Given the description of an element on the screen output the (x, y) to click on. 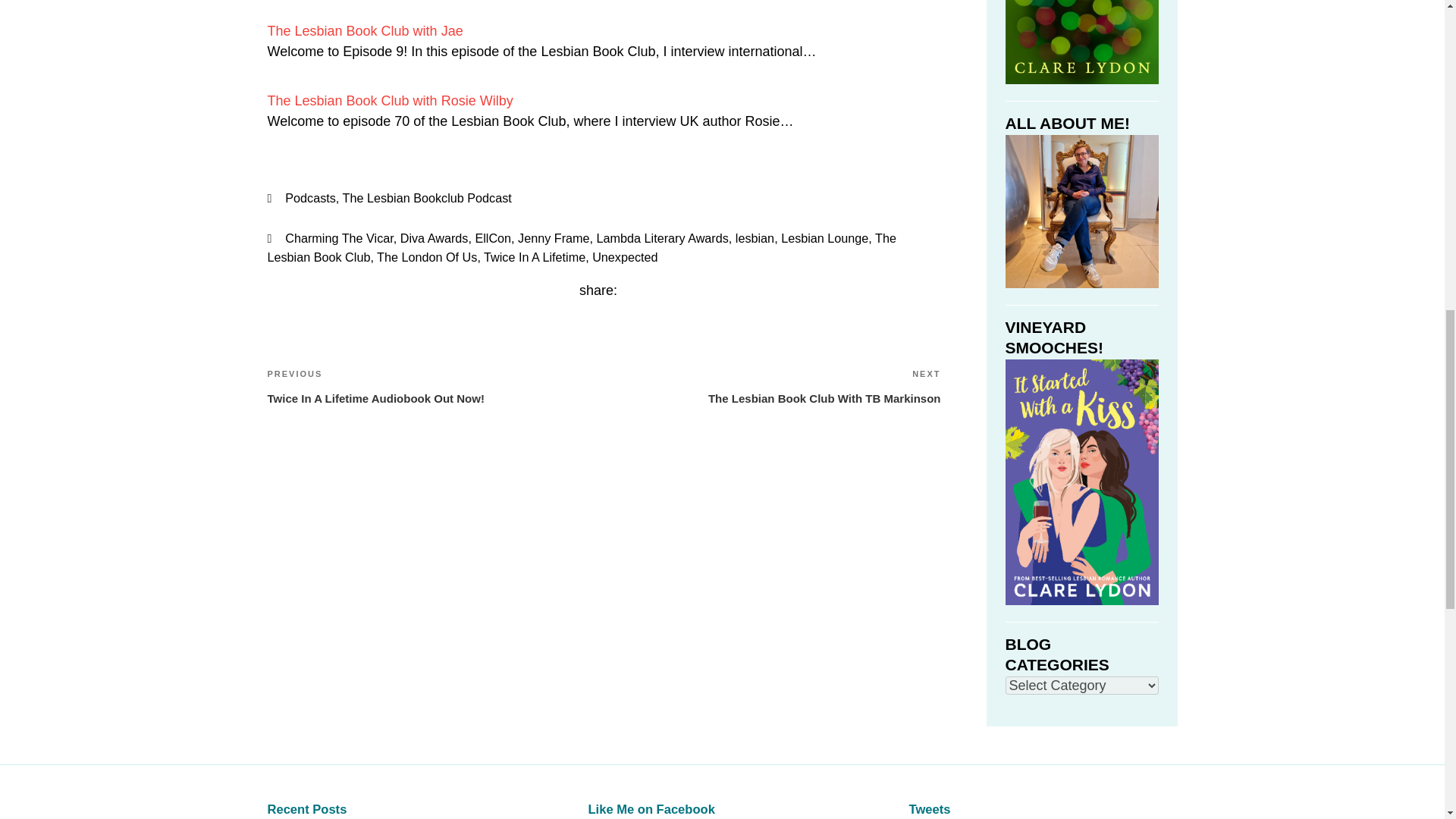
Diva Awards (434, 237)
The Lesbian Book Club with Rosie Wilby (389, 100)
Podcasts (310, 197)
The Lesbian Bookclub Podcast (427, 197)
The Lesbian Book Club with Jae (364, 30)
Charming The Vicar (339, 237)
